Given the description of an element on the screen output the (x, y) to click on. 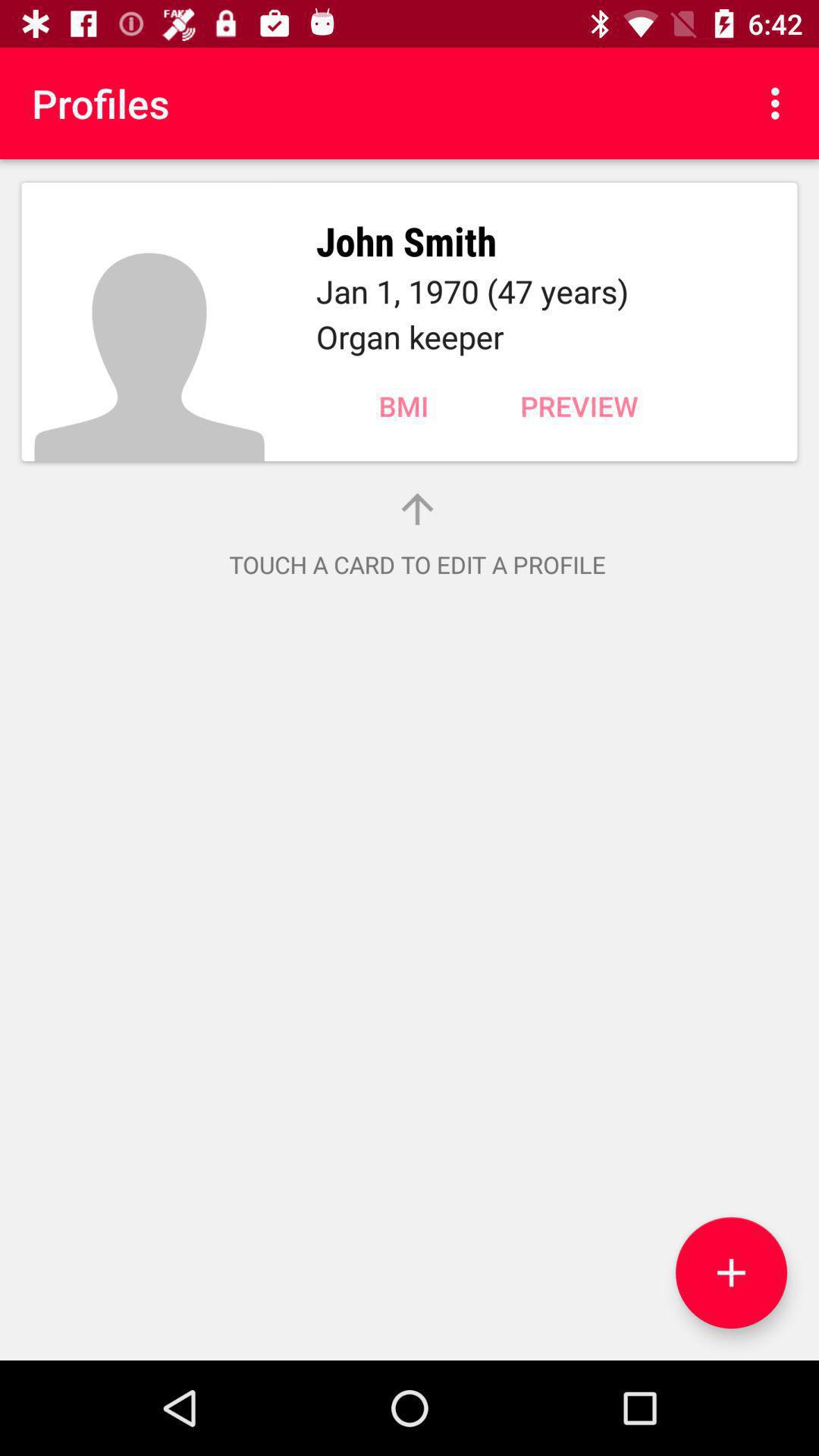
open item below organ keeper (403, 405)
